Given the description of an element on the screen output the (x, y) to click on. 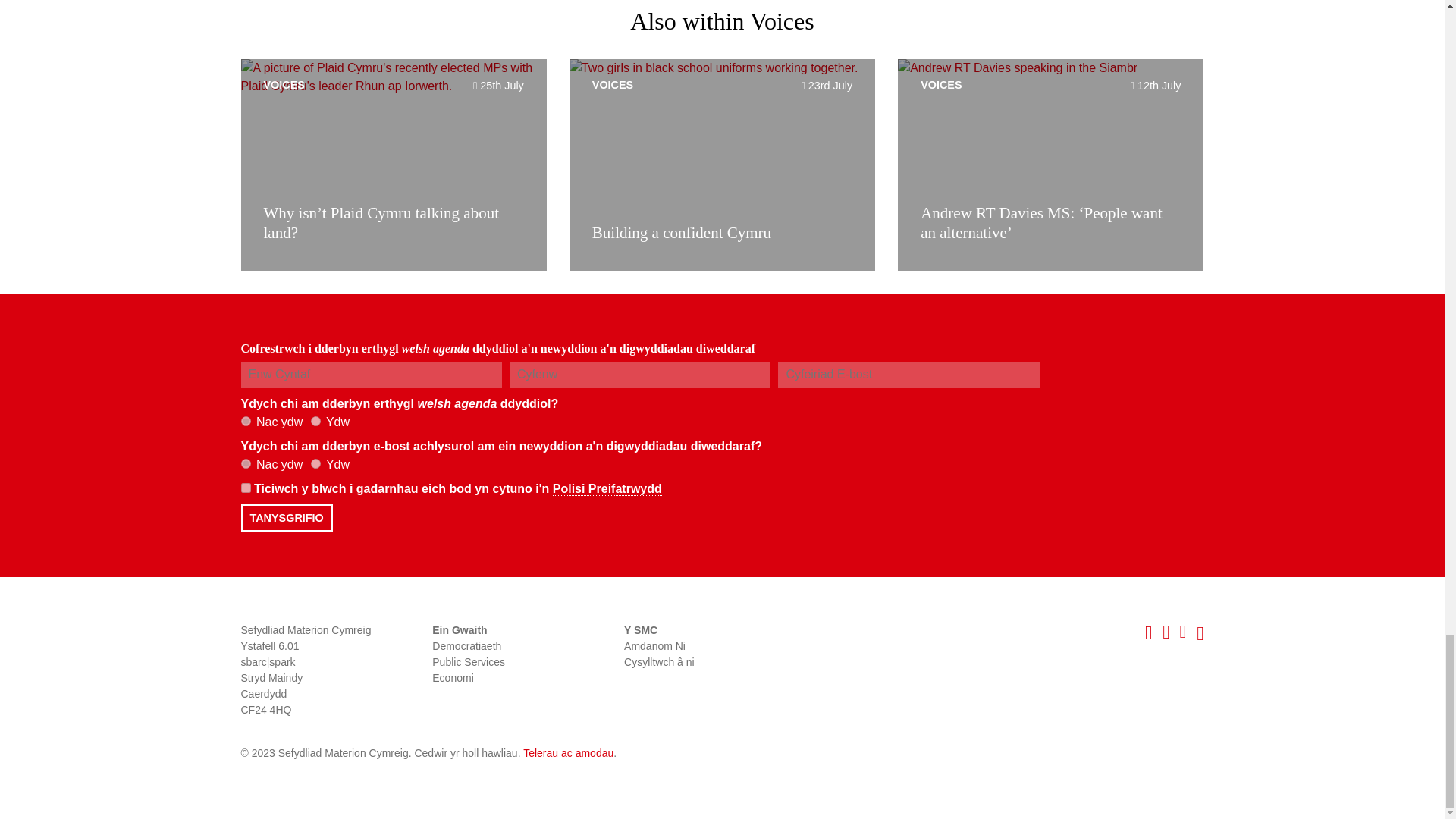
No (245, 420)
Yes (315, 420)
Yes (315, 463)
on (245, 488)
No (245, 463)
Tanysgrifio (287, 517)
